Given the description of an element on the screen output the (x, y) to click on. 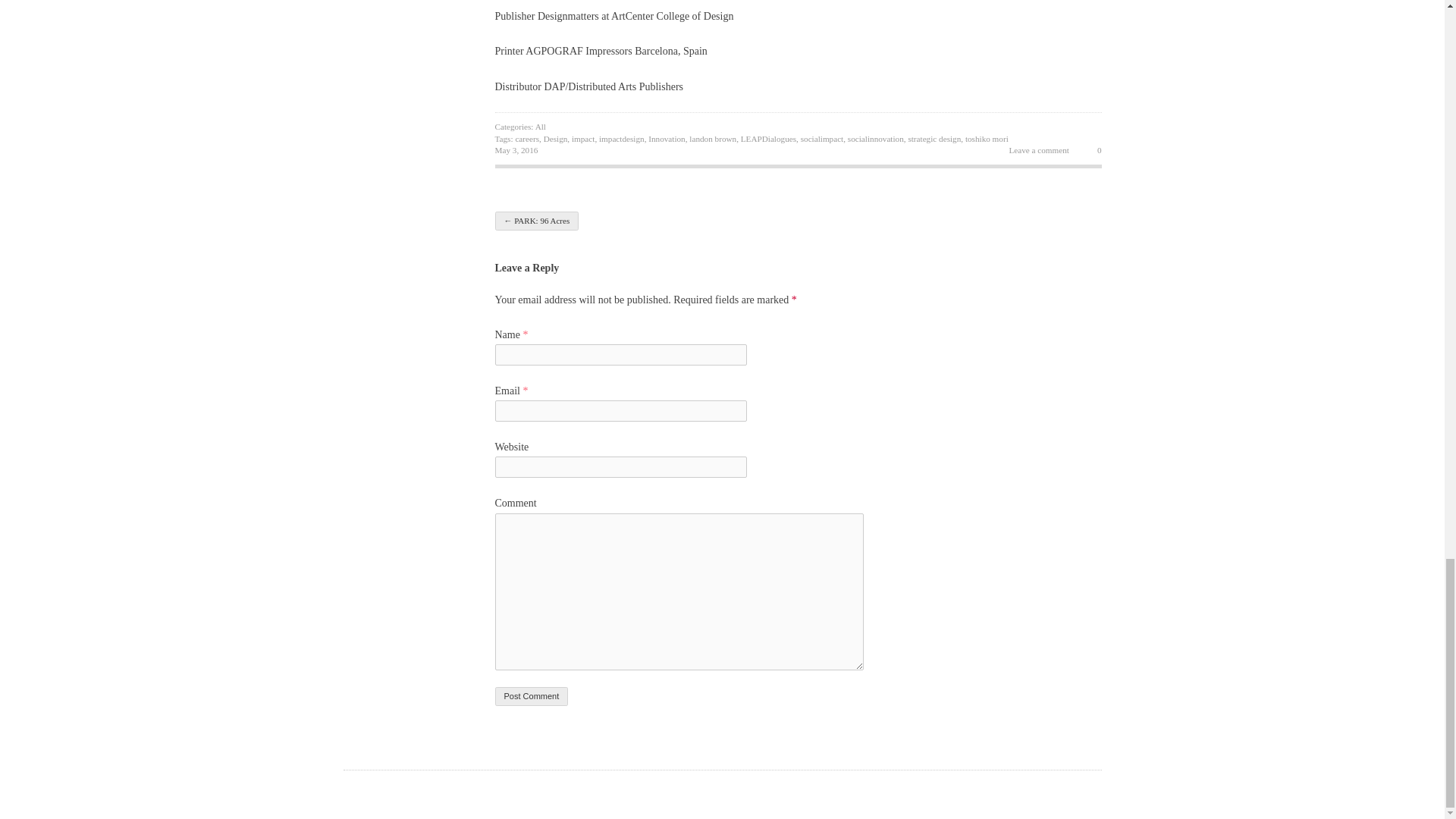
Comment on LEAP Dialogues (1029, 150)
landon brown (712, 138)
toshiko mori (987, 138)
strategic design (933, 138)
careers (526, 138)
Innovation (665, 138)
socialimpact (822, 138)
May 3, 2016 (516, 149)
10:10 am (516, 149)
LEAPDialogues (768, 138)
socialinnovation (875, 138)
Post Comment (531, 696)
All (540, 126)
Post Comment (531, 696)
impactdesign (621, 138)
